Given the description of an element on the screen output the (x, y) to click on. 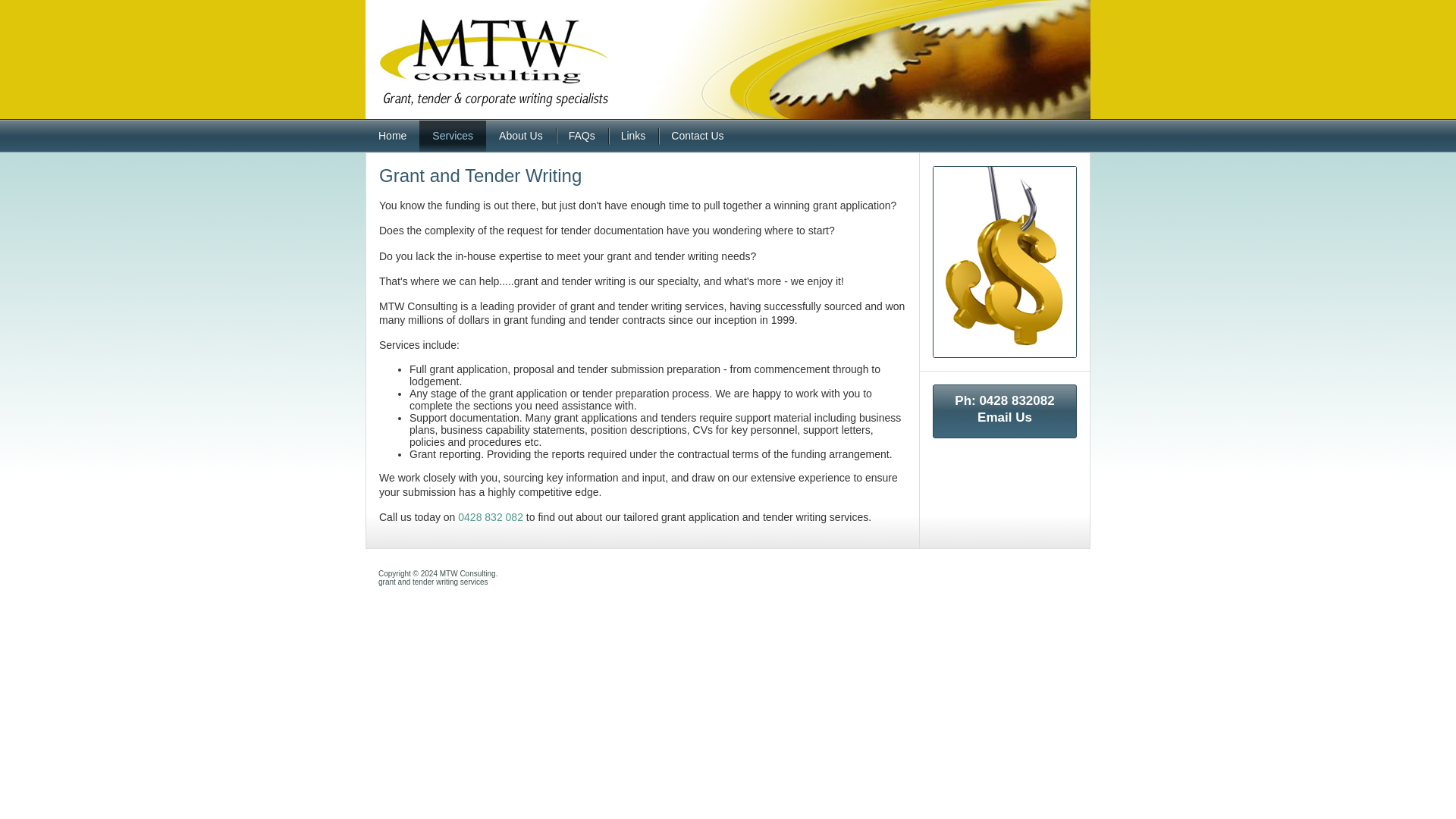
0428 832 082 (490, 517)
Links (633, 135)
Contact Us (697, 135)
FAQs (582, 135)
Email Us (1004, 417)
About Us (521, 135)
Services (452, 135)
Home (392, 135)
